Given the description of an element on the screen output the (x, y) to click on. 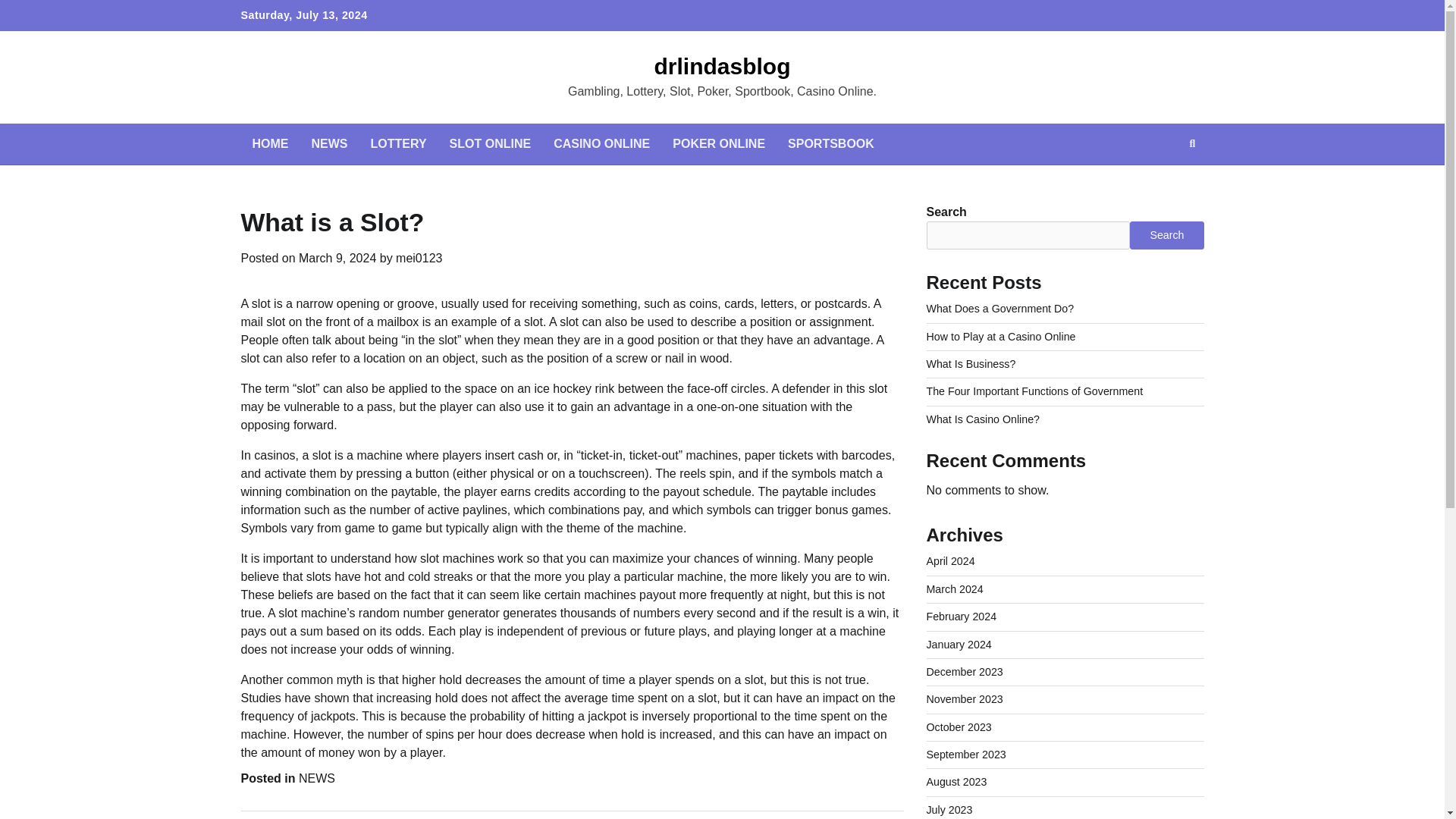
October 2023 (958, 727)
NEWS (316, 778)
Search (1166, 234)
March 2024 (955, 589)
April 2024 (950, 561)
POKER ONLINE (718, 143)
CASINO ONLINE (601, 143)
The Four Important Functions of Government (1034, 390)
How to Play at a Casino Online (1000, 336)
November 2023 (964, 698)
What Is Business? (971, 363)
Search (1164, 179)
March 9, 2024 (336, 257)
LOTTERY (398, 143)
drlindasblog (721, 66)
